Given the description of an element on the screen output the (x, y) to click on. 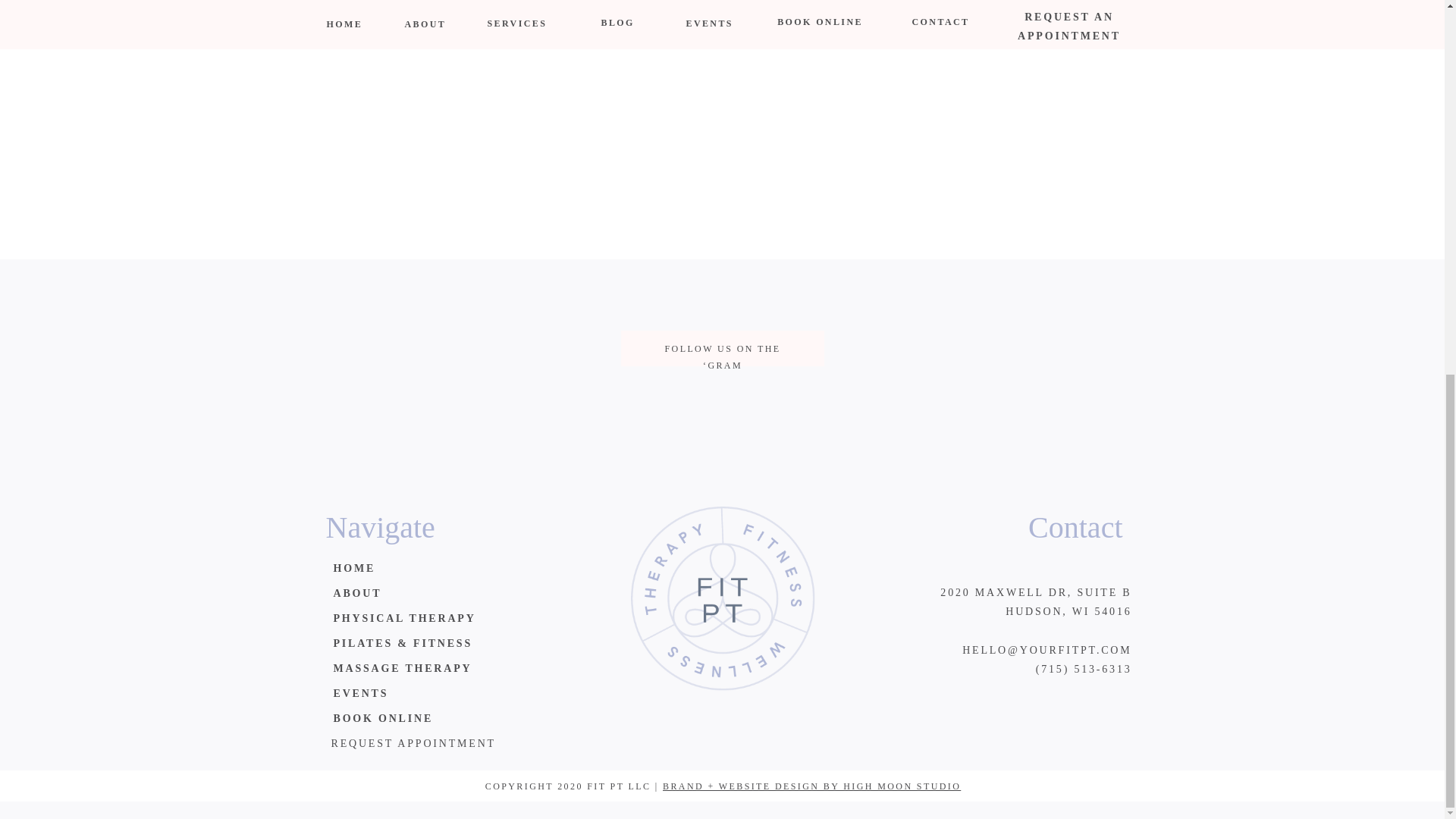
EVENTS (443, 696)
HOME (443, 570)
PHYSICAL THERAPY (443, 621)
MASSAGE THERAPY (443, 671)
Search (745, 9)
REQUEST APPOINTMENT (440, 746)
ABOUT (443, 596)
Search (745, 9)
BOOK ONLINE (443, 721)
